Given the description of an element on the screen output the (x, y) to click on. 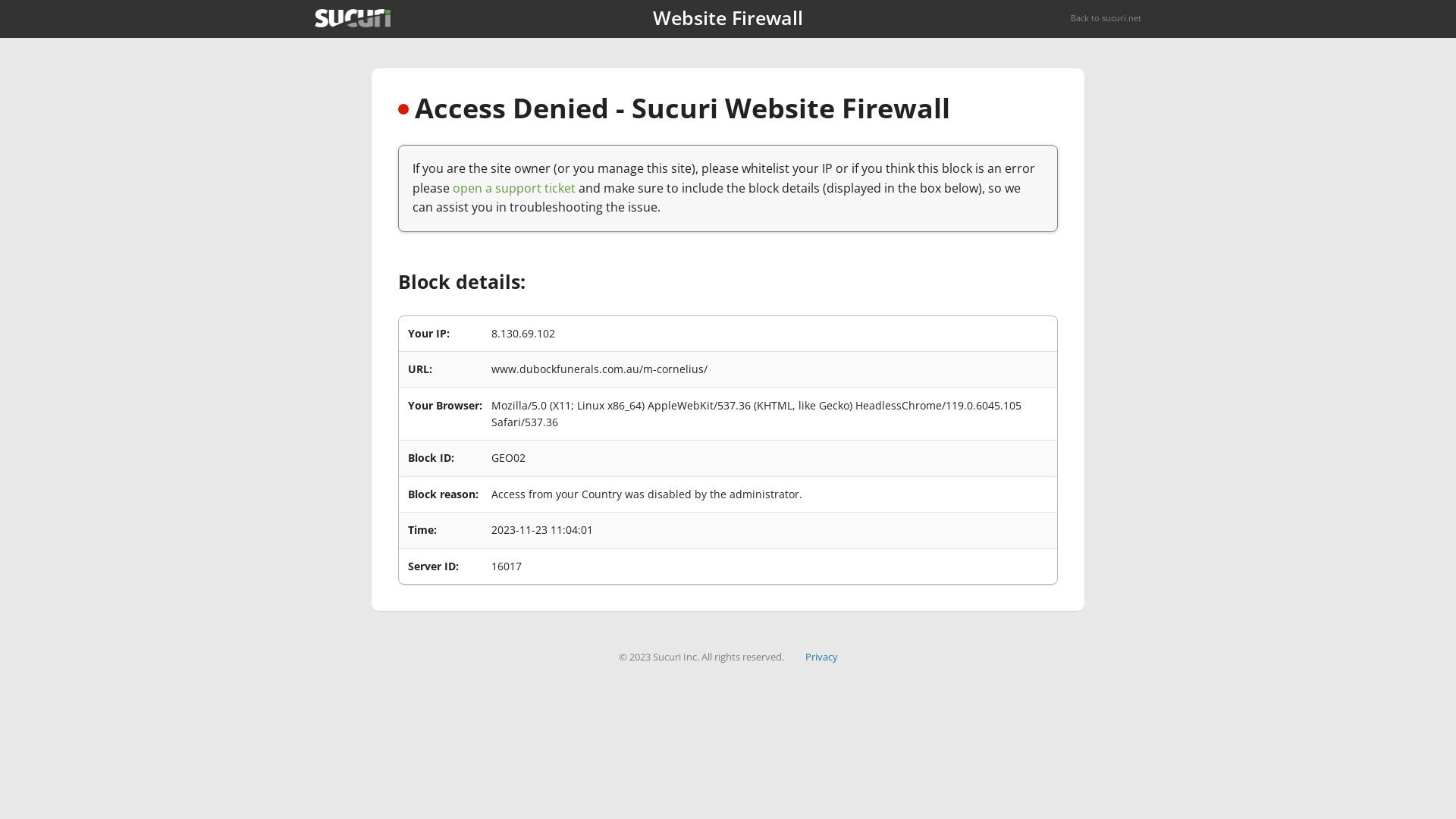
Privacy Element type: text (821, 656)
Back to sucuri.net Element type: text (1105, 18)
open a support ticket Element type: text (513, 187)
